Given the description of an element on the screen output the (x, y) to click on. 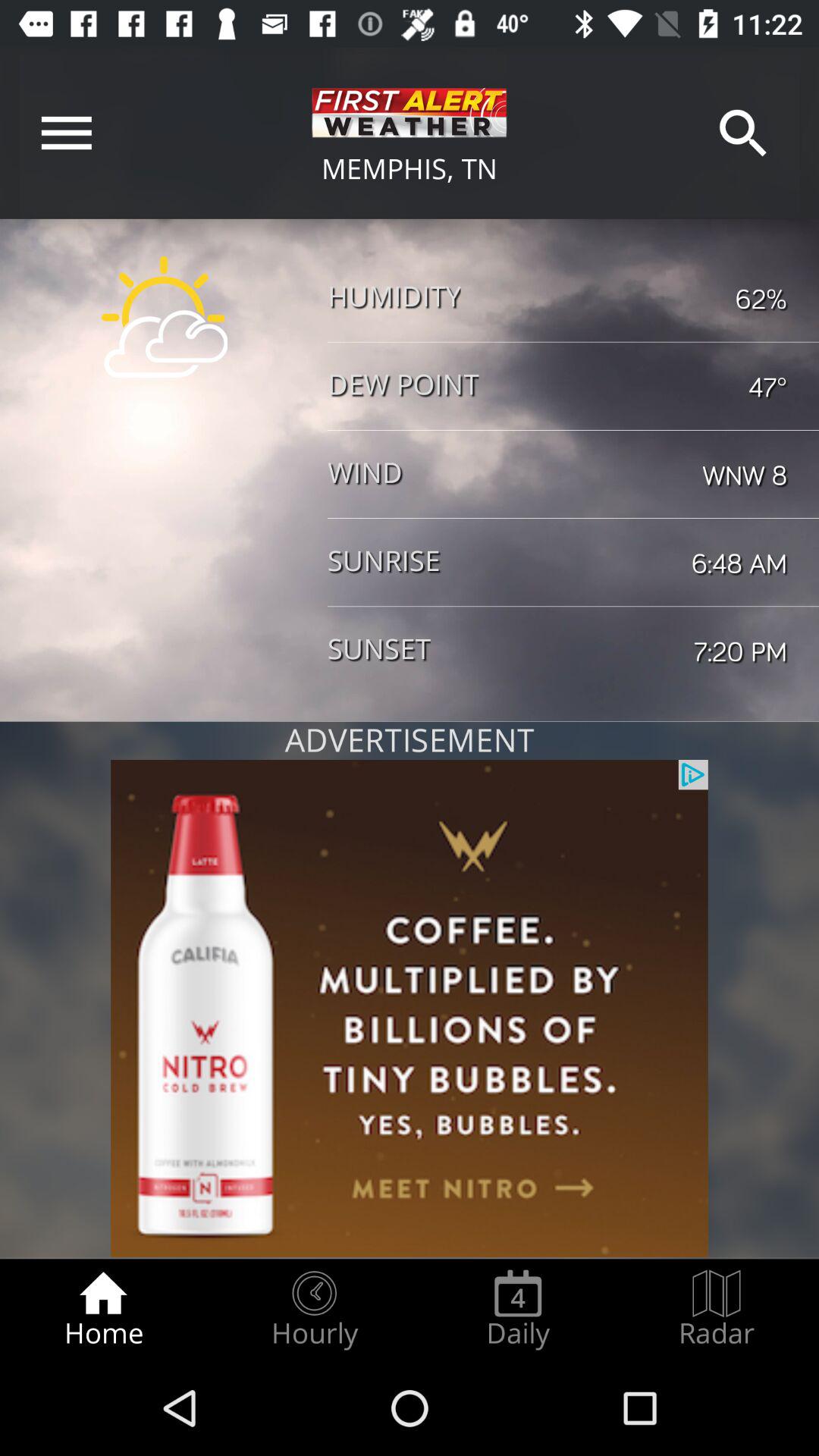
choose home icon (103, 1309)
